Given the description of an element on the screen output the (x, y) to click on. 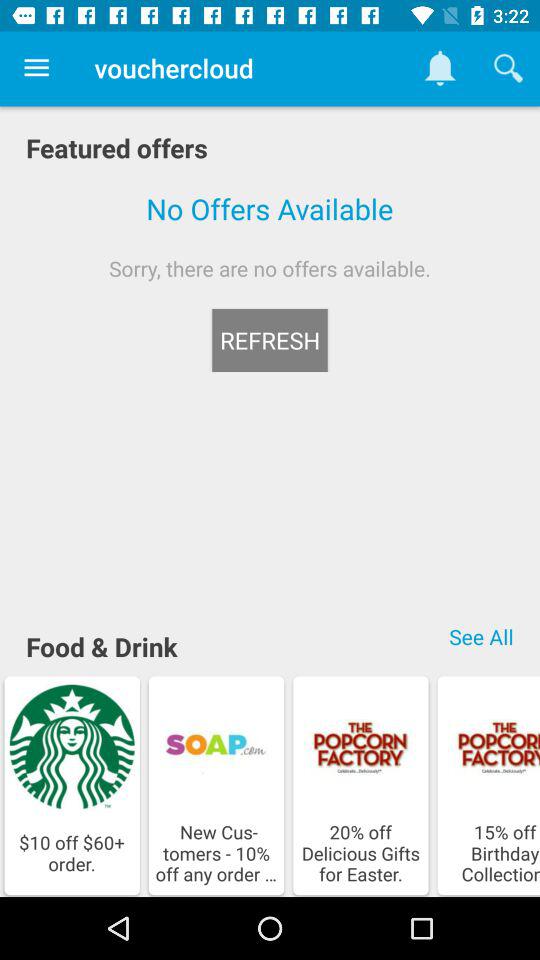
jump until the refresh (269, 340)
